Given the description of an element on the screen output the (x, y) to click on. 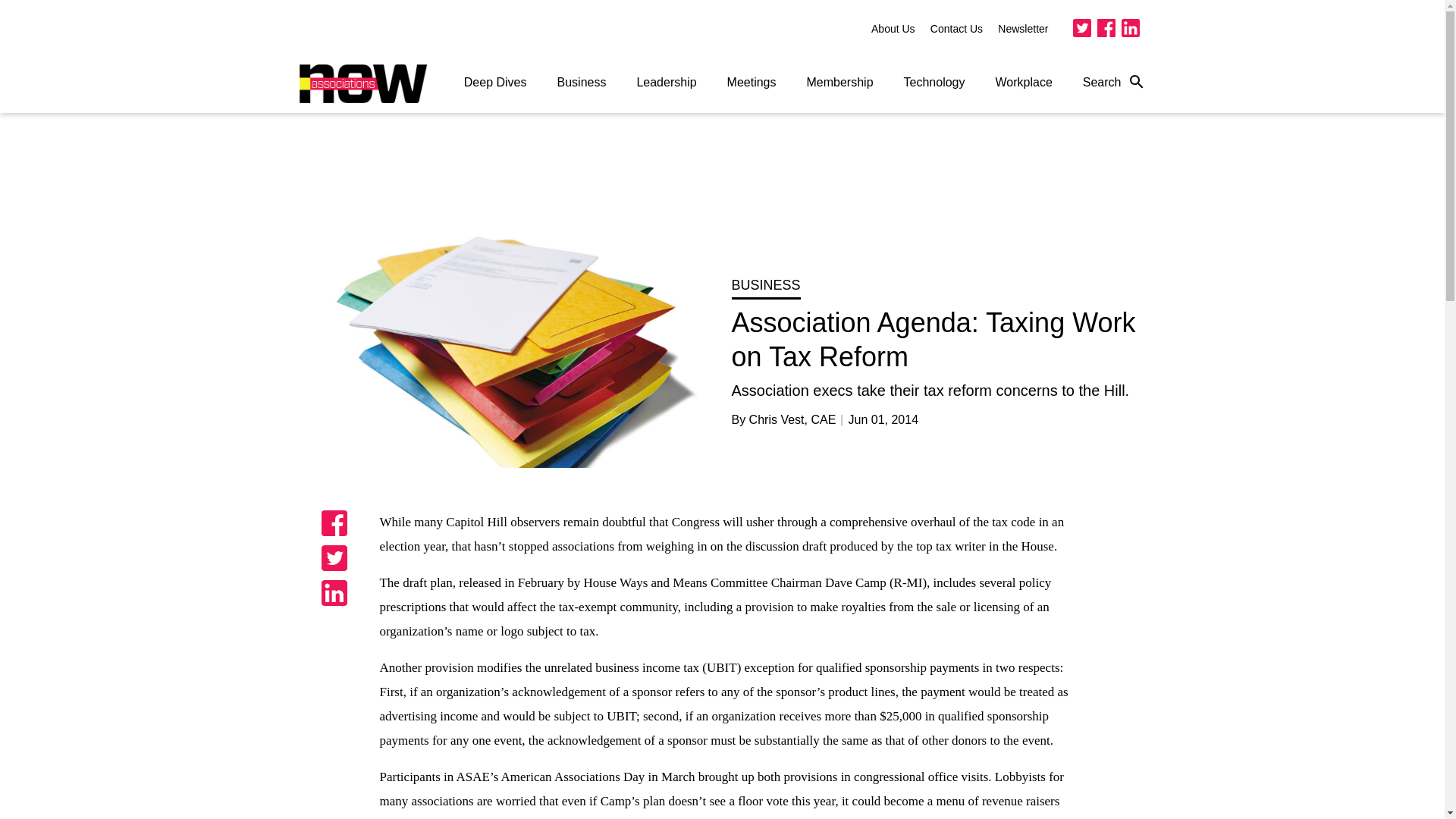
Visit us onFacebook (1105, 27)
Business (581, 82)
Share (334, 592)
Share (334, 557)
Facebook (1105, 27)
Twitter (1080, 27)
Workplace (1023, 82)
Visit us onTwitter (1080, 27)
Newsletter (1022, 28)
About Us (892, 28)
